Given the description of an element on the screen output the (x, y) to click on. 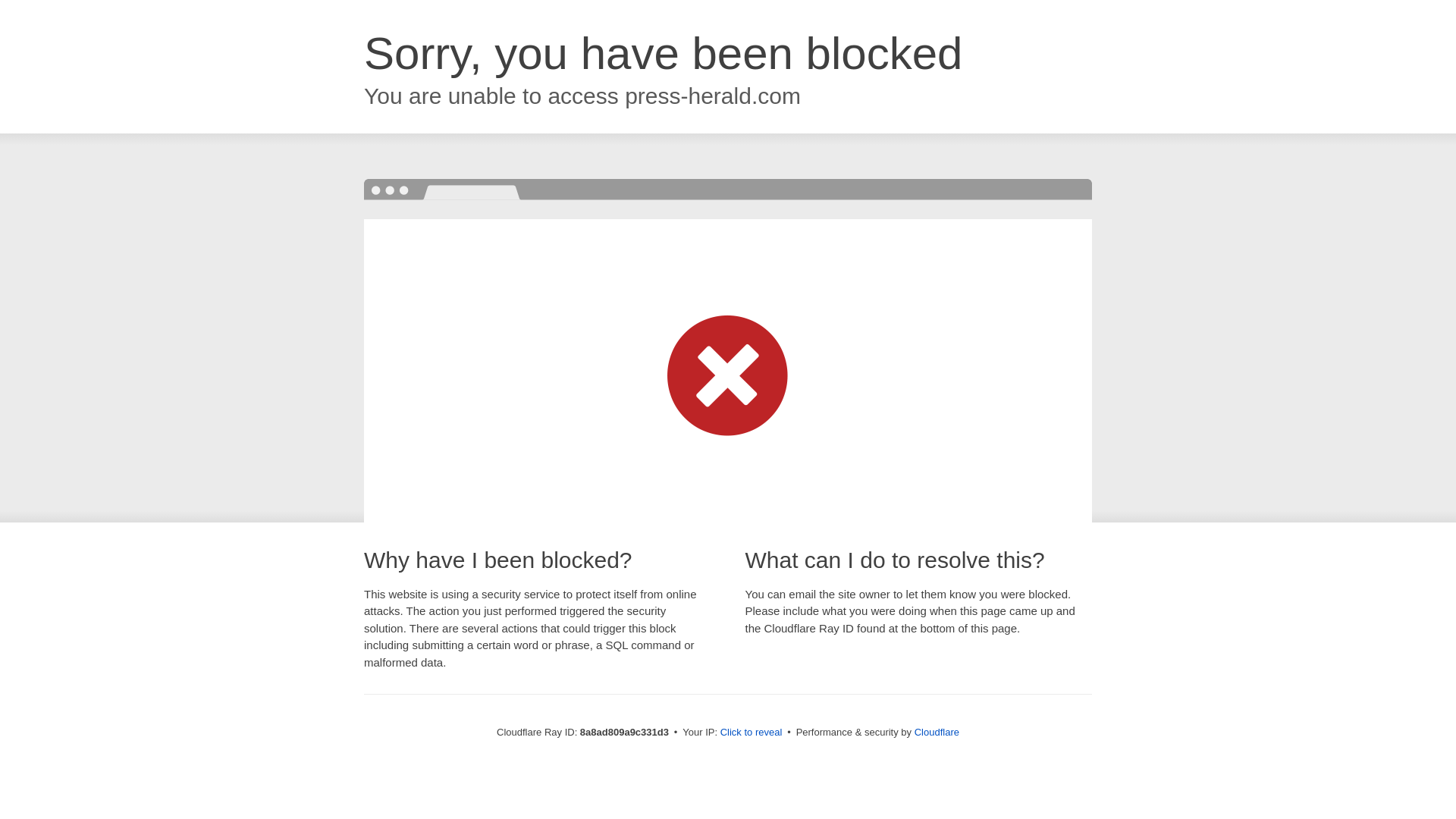
Cloudflare (936, 731)
Click to reveal (751, 732)
